Given the description of an element on the screen output the (x, y) to click on. 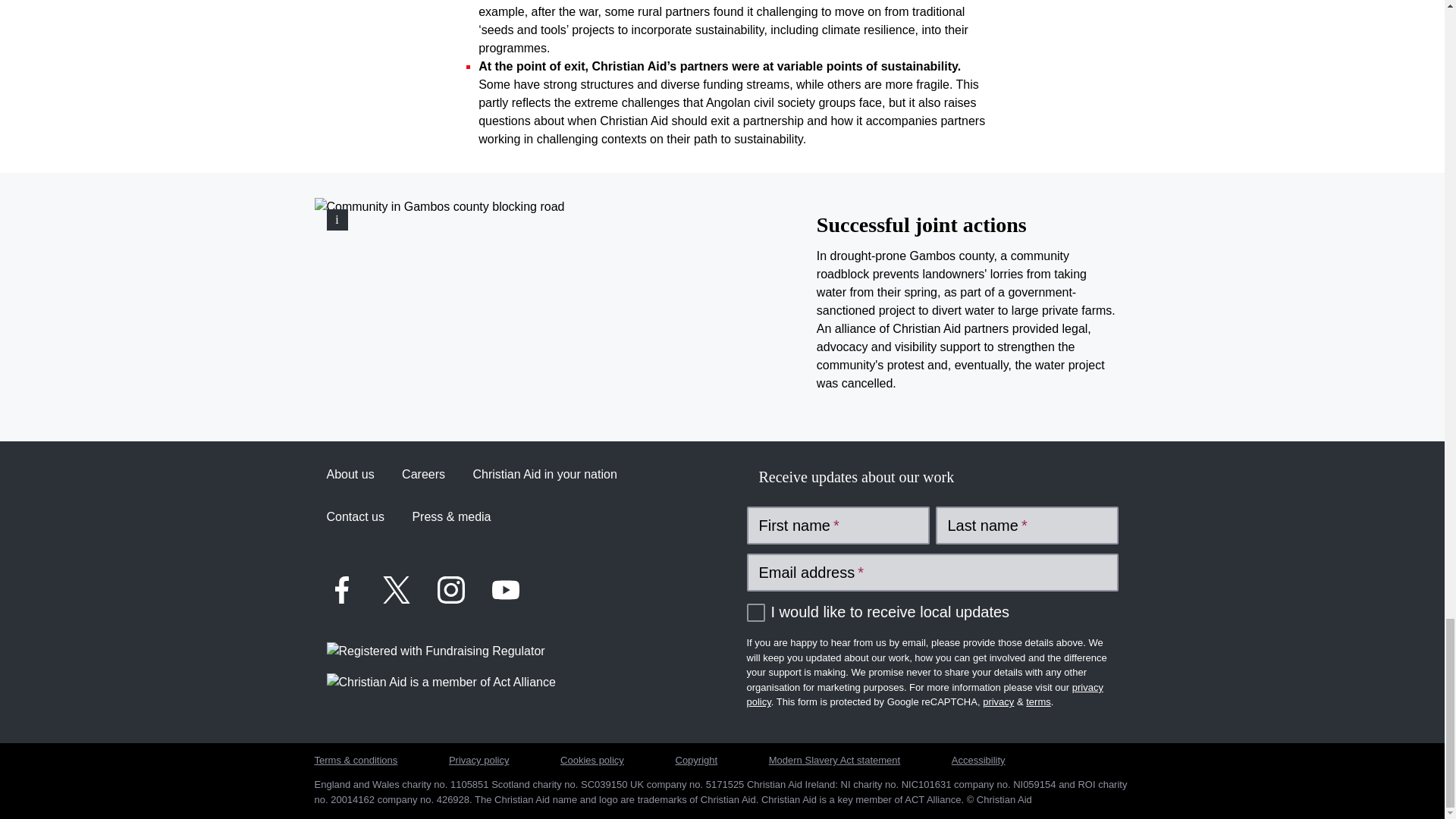
Cookies policy (592, 759)
Instagram logo (450, 589)
Modern Slavery Act statement (833, 759)
Twitter logo (395, 589)
privacy (997, 701)
YouTube logo (504, 589)
Instagram logo (450, 589)
About us (349, 474)
Twitter logo (395, 589)
Contact us (355, 517)
